Given the description of an element on the screen output the (x, y) to click on. 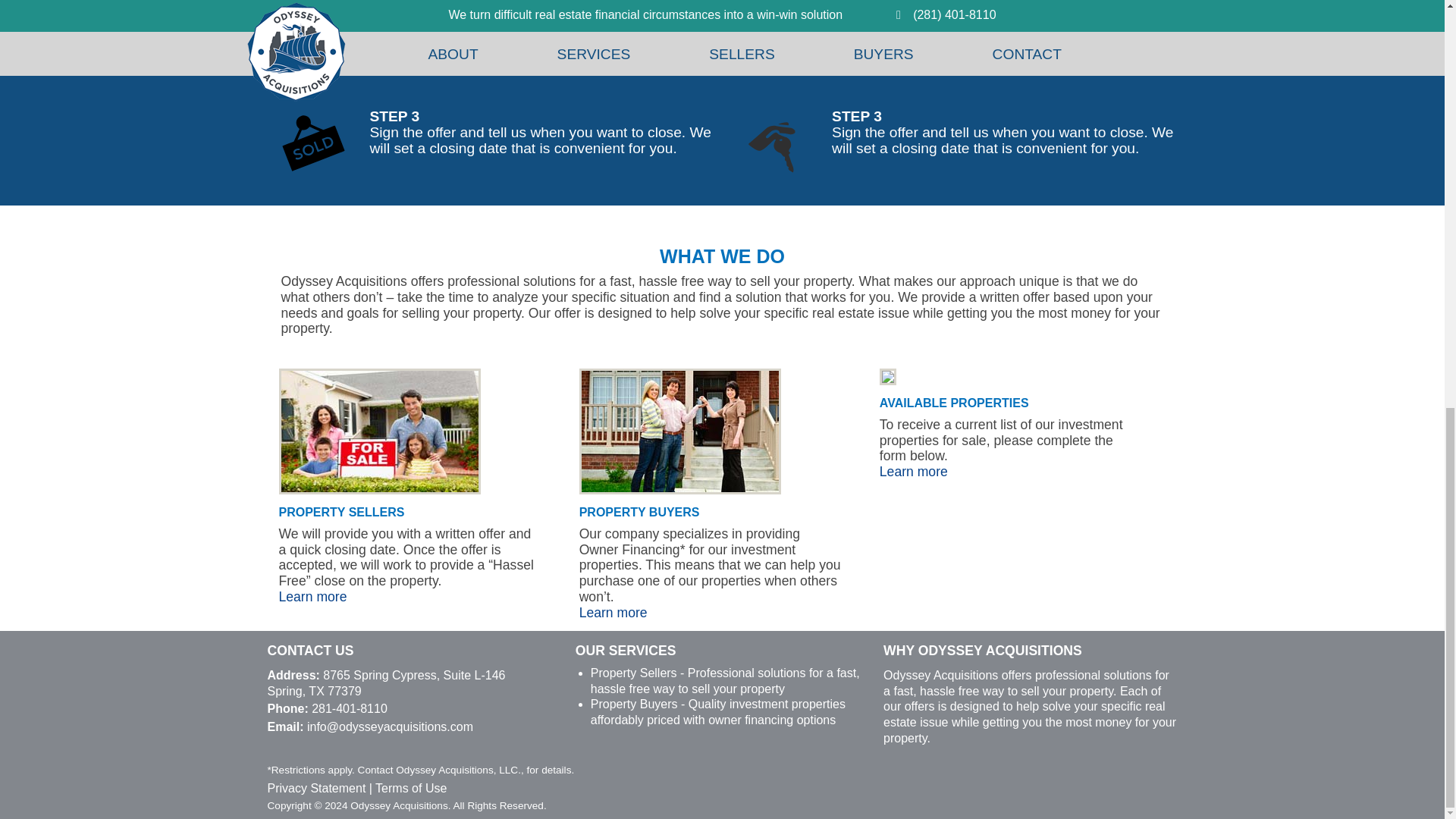
Home Buyers (620, 612)
Home Buyers (679, 490)
Available Homes (919, 471)
Featured Homes (887, 380)
Privacy Statement (315, 788)
Terms of Use (410, 788)
Learn more (320, 596)
Learn more (919, 471)
Home Sellers (320, 596)
Learn more (620, 612)
